Given the description of an element on the screen output the (x, y) to click on. 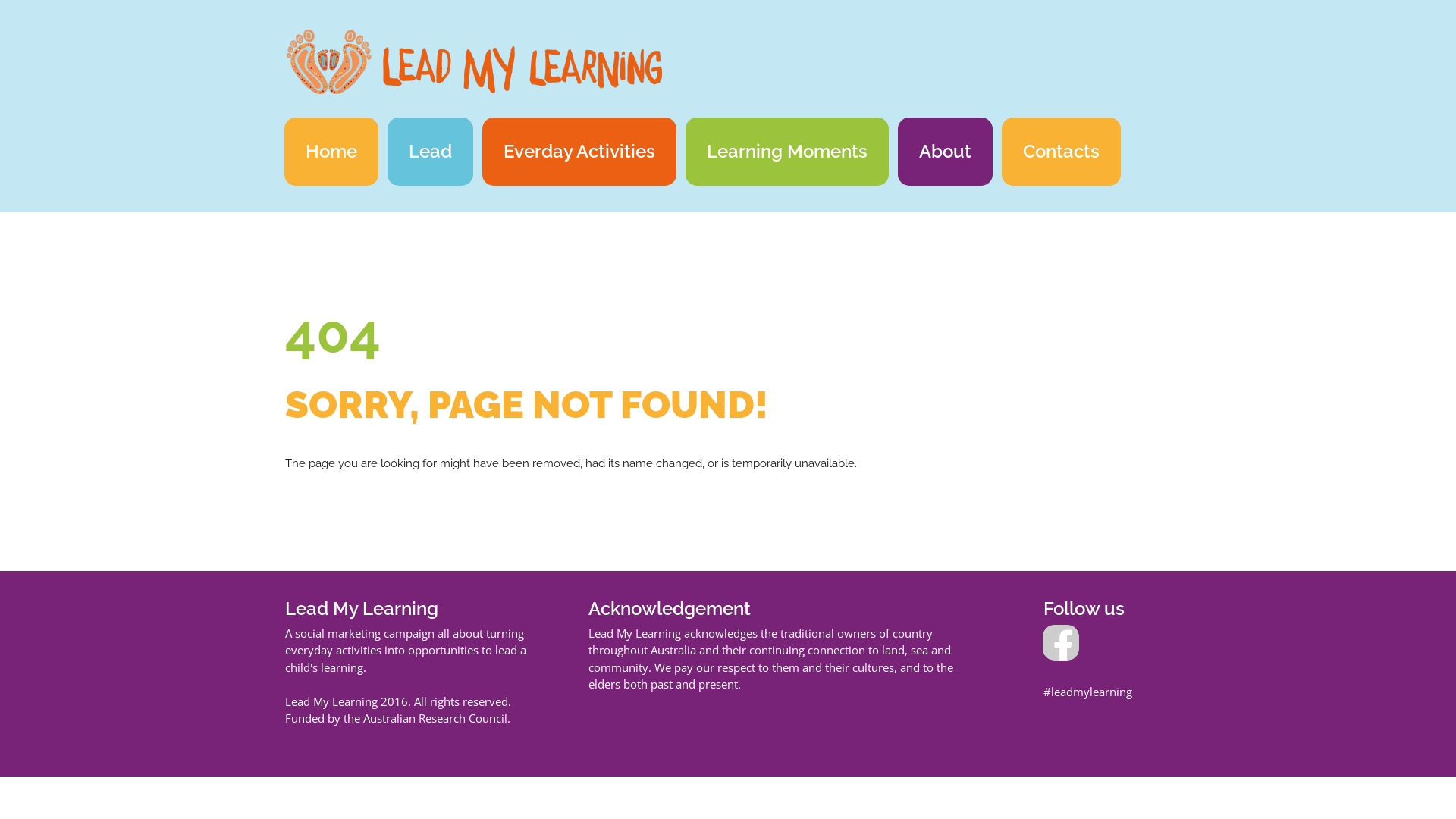
Home Element type: text (331, 151)
About Element type: text (944, 151)
Everday Activities Element type: text (579, 151)
Learning Moments Element type: text (786, 151)
Contacts Element type: text (1060, 151)
Lead Element type: text (430, 151)
